Given the description of an element on the screen output the (x, y) to click on. 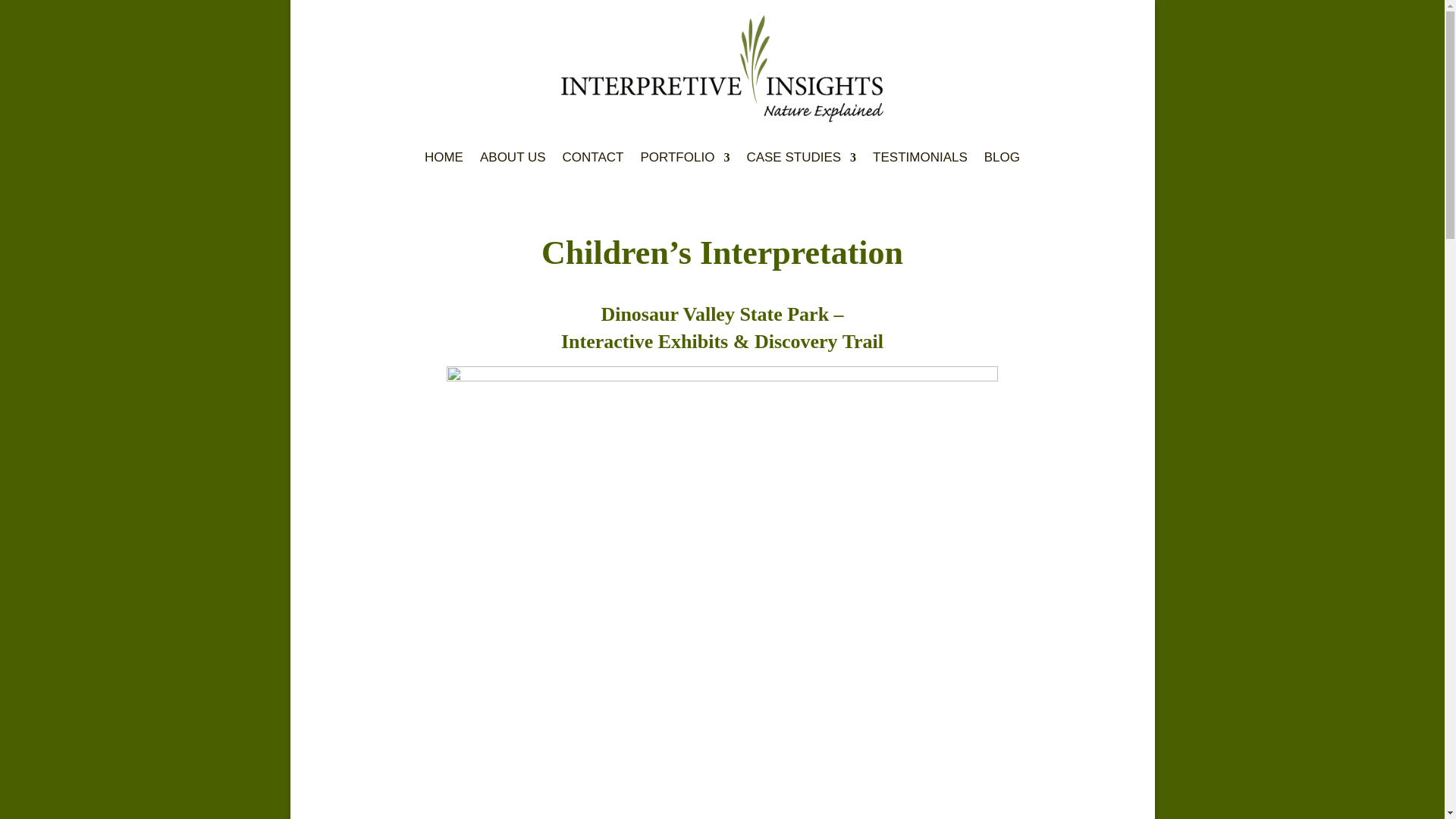
dinosaurvalleyspwildlifediscoverytrail (721, 378)
CASE STUDIES (800, 157)
CONTACT (593, 157)
PORTFOLIO (684, 157)
TESTIMONIALS (920, 157)
ABOUT US (513, 157)
